Given the description of an element on the screen output the (x, y) to click on. 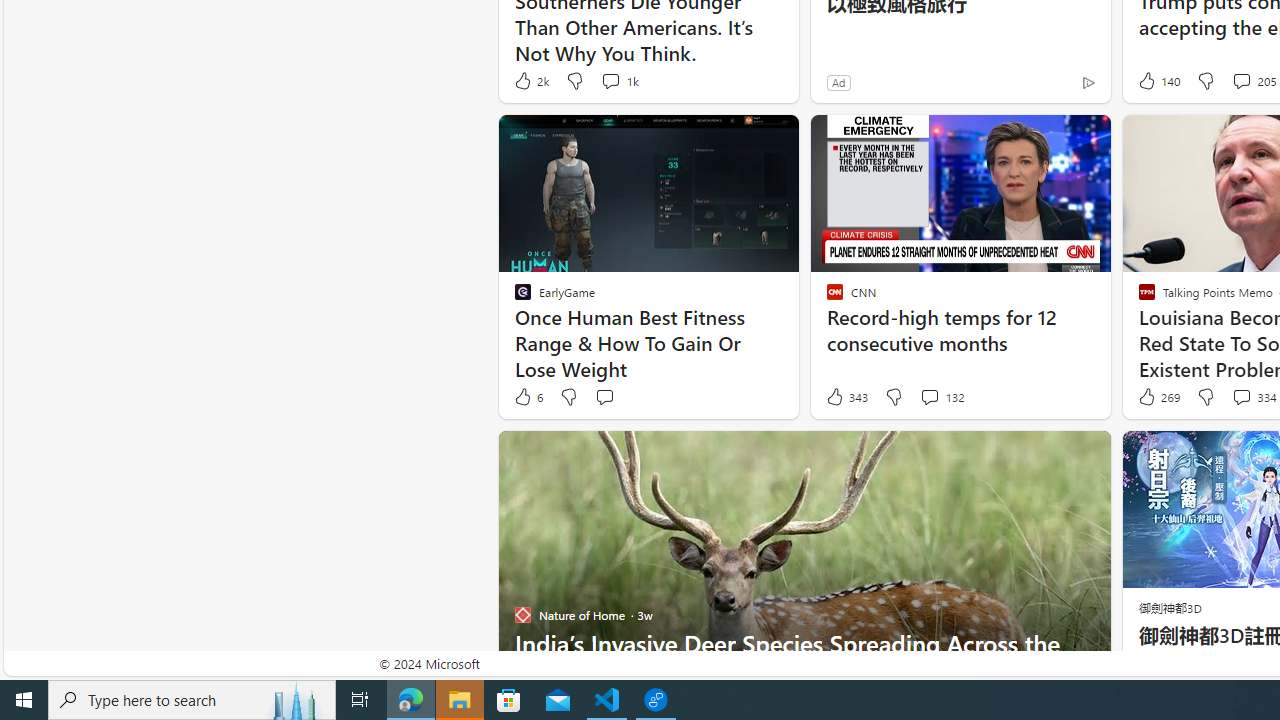
140 Like (1157, 80)
View comments 1k Comment (610, 80)
View comments 132 Comment (941, 397)
